Given the description of an element on the screen output the (x, y) to click on. 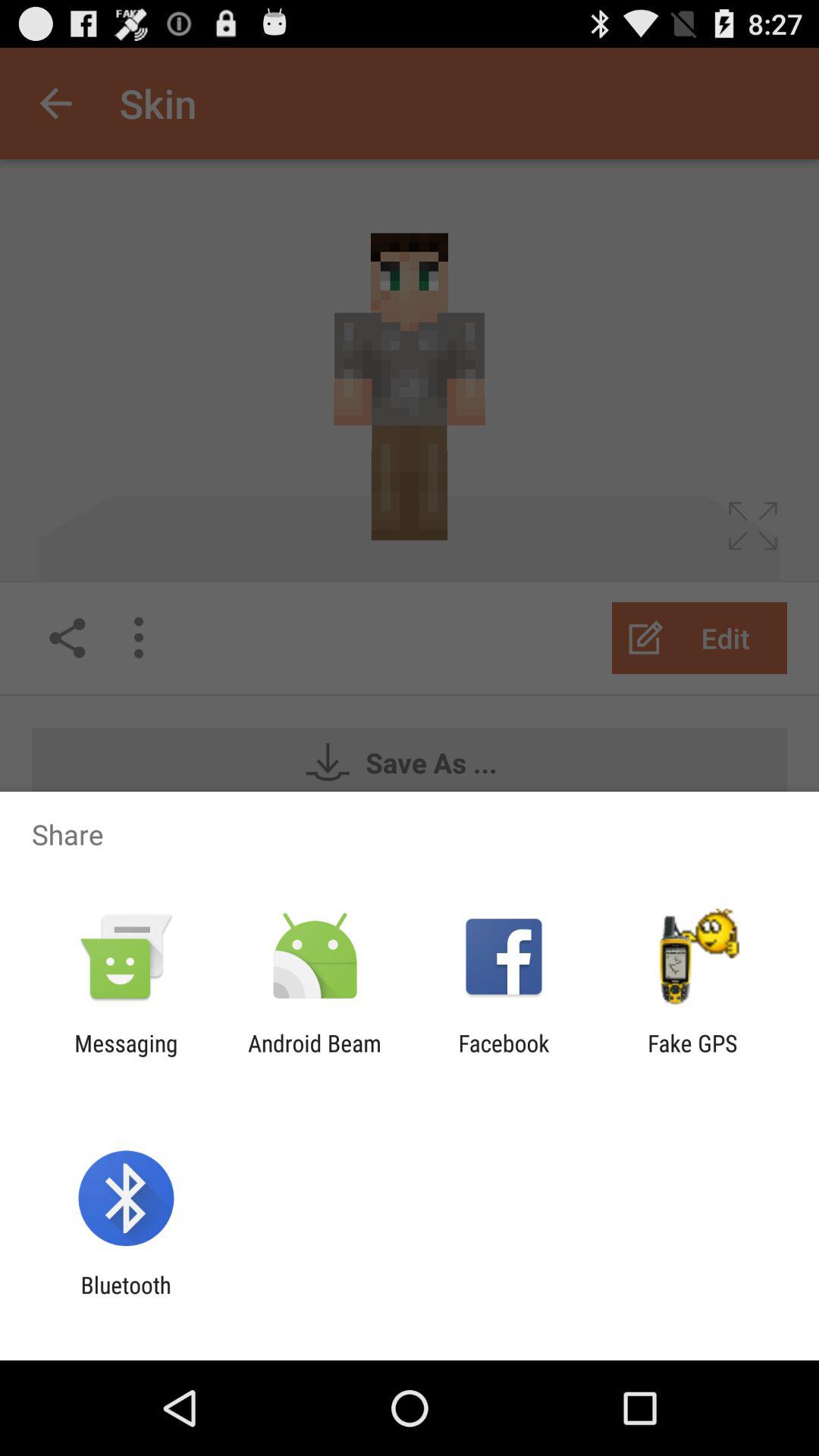
select the fake gps icon (692, 1056)
